Given the description of an element on the screen output the (x, y) to click on. 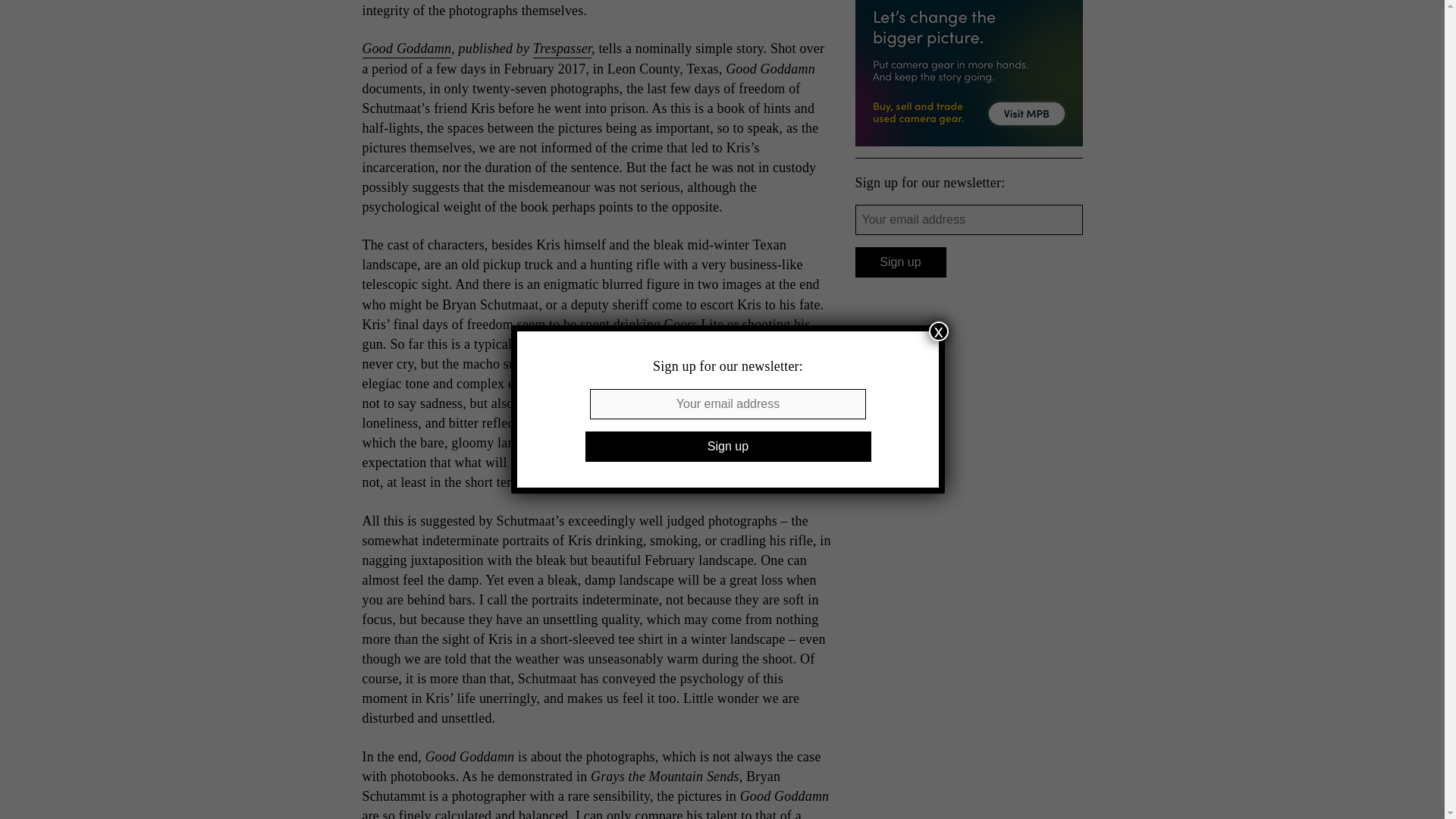
Sign up (901, 262)
